Given the description of an element on the screen output the (x, y) to click on. 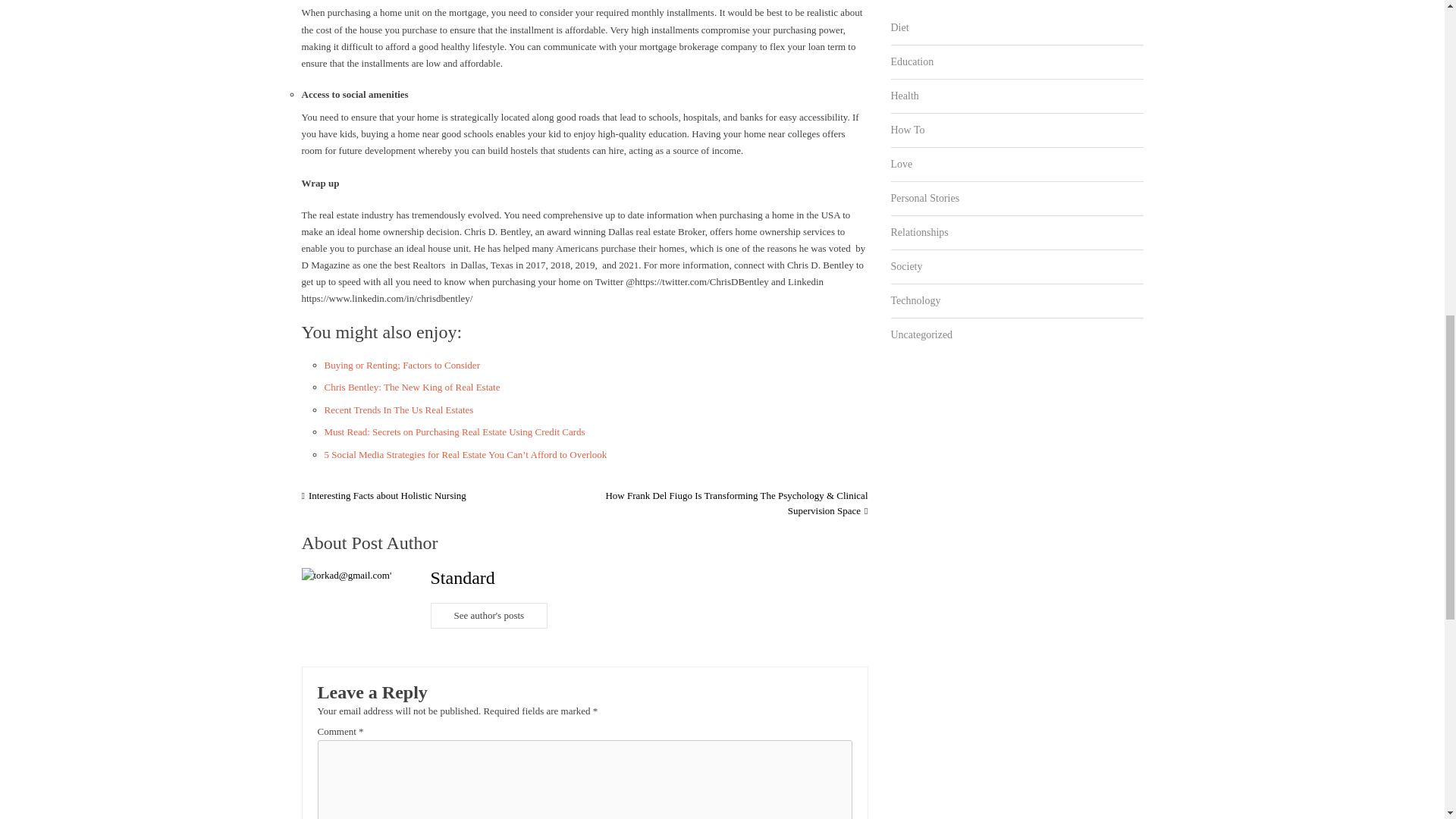
Buying or Renting; Factors to Consider (402, 365)
Interesting Facts about Holistic Nursing (383, 495)
Recent Trends In The Us Real Estates (399, 409)
Buying or Renting; Factors to Consider (402, 365)
Chris Bentley: The New King of Real Estate (412, 387)
Standard (462, 578)
Recent Trends In The Us Real Estates (399, 409)
See author's posts (489, 615)
Chris Bentley: The New King of Real Estate (412, 387)
